Given the description of an element on the screen output the (x, y) to click on. 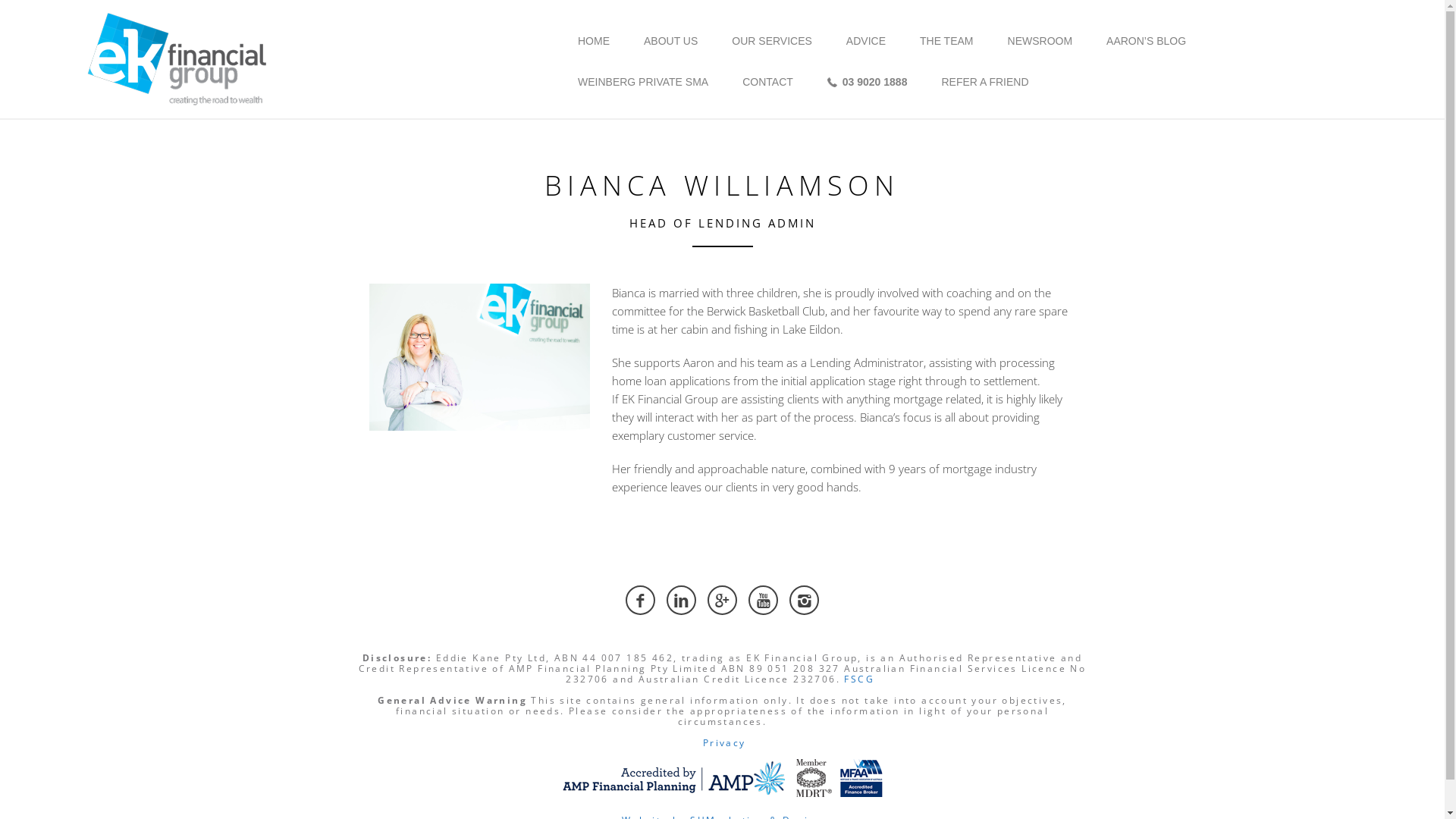
ADVICE Element type: text (865, 40)
NEWSROOM Element type: text (1040, 40)
CONTACT Element type: text (767, 81)
Privacy Element type: text (724, 742)
THE TEAM Element type: text (946, 40)
Instagram Element type: hover (804, 600)
HOME Element type: text (593, 40)
REFER A FRIEND Element type: text (984, 81)
Facebook Element type: hover (640, 600)
03 9020 1888 Element type: text (867, 81)
Google+ Element type: hover (722, 600)
ABOUT US Element type: text (670, 40)
WEINBERG PRIVATE SMA Element type: text (642, 81)
FSCG Element type: text (859, 678)
OUR SERVICES Element type: text (771, 40)
EK Financial Group Element type: hover (178, 57)
YouTube Element type: hover (763, 600)
Linkedin Element type: hover (681, 600)
